Given the description of an element on the screen output the (x, y) to click on. 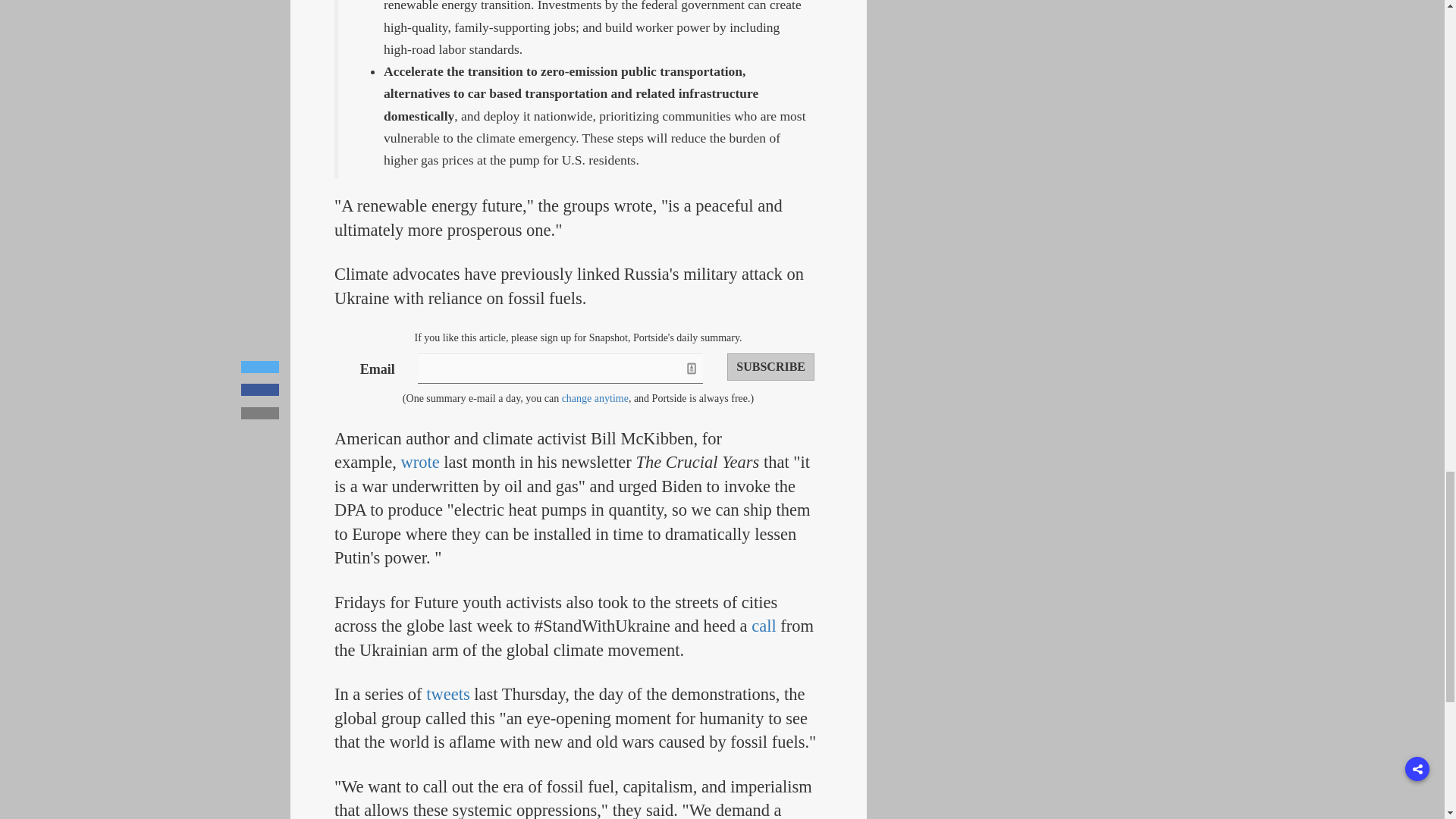
tweets (447, 693)
Subscribe (769, 366)
call (763, 625)
Subscribe (769, 366)
change anytime (595, 398)
wrote (419, 461)
